Given the description of an element on the screen output the (x, y) to click on. 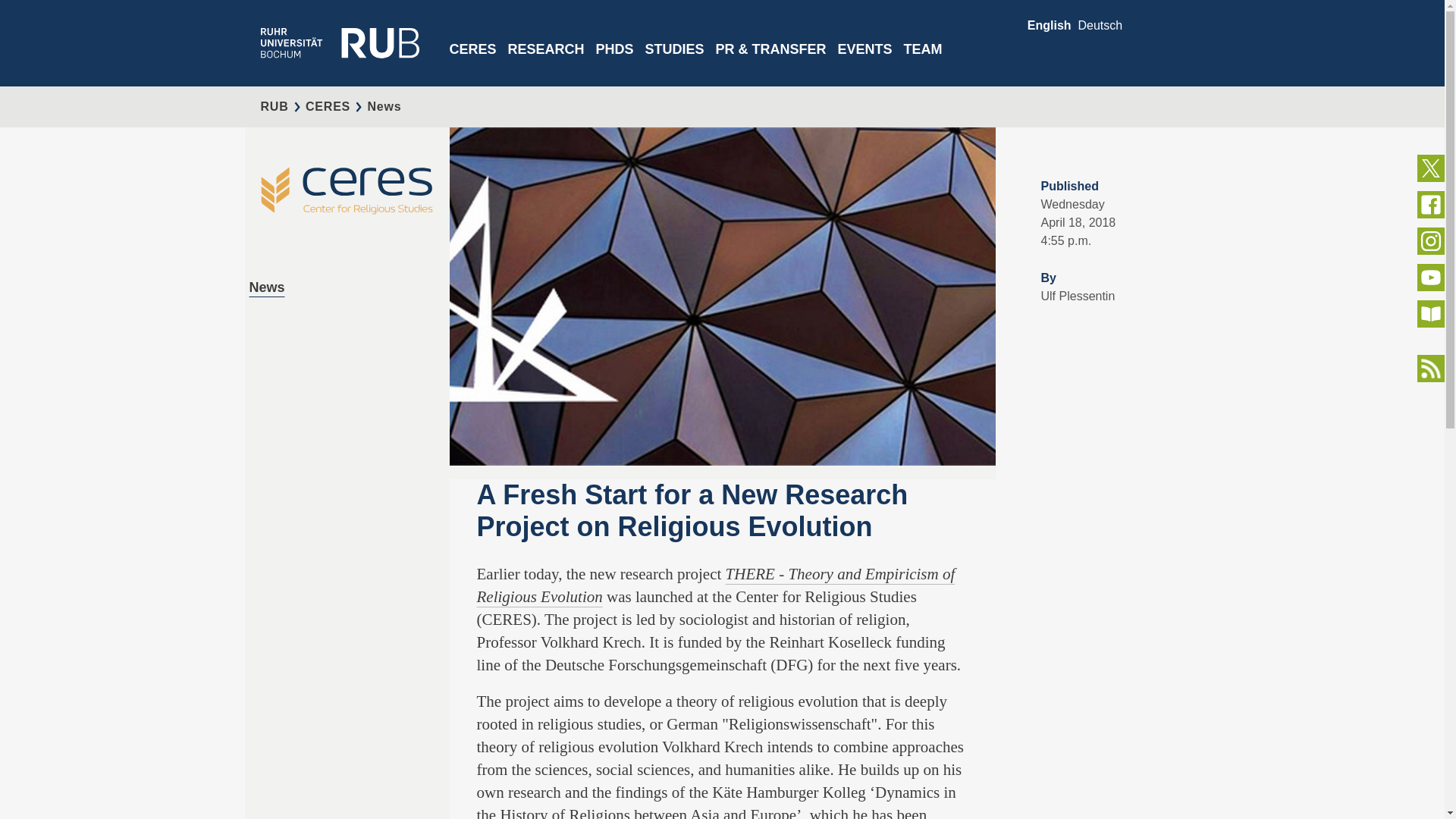
RESEARCH (546, 62)
EVENTS (865, 62)
CERES (472, 62)
STUDIES (674, 62)
Change to language: Deutsch (1099, 24)
